Given the description of an element on the screen output the (x, y) to click on. 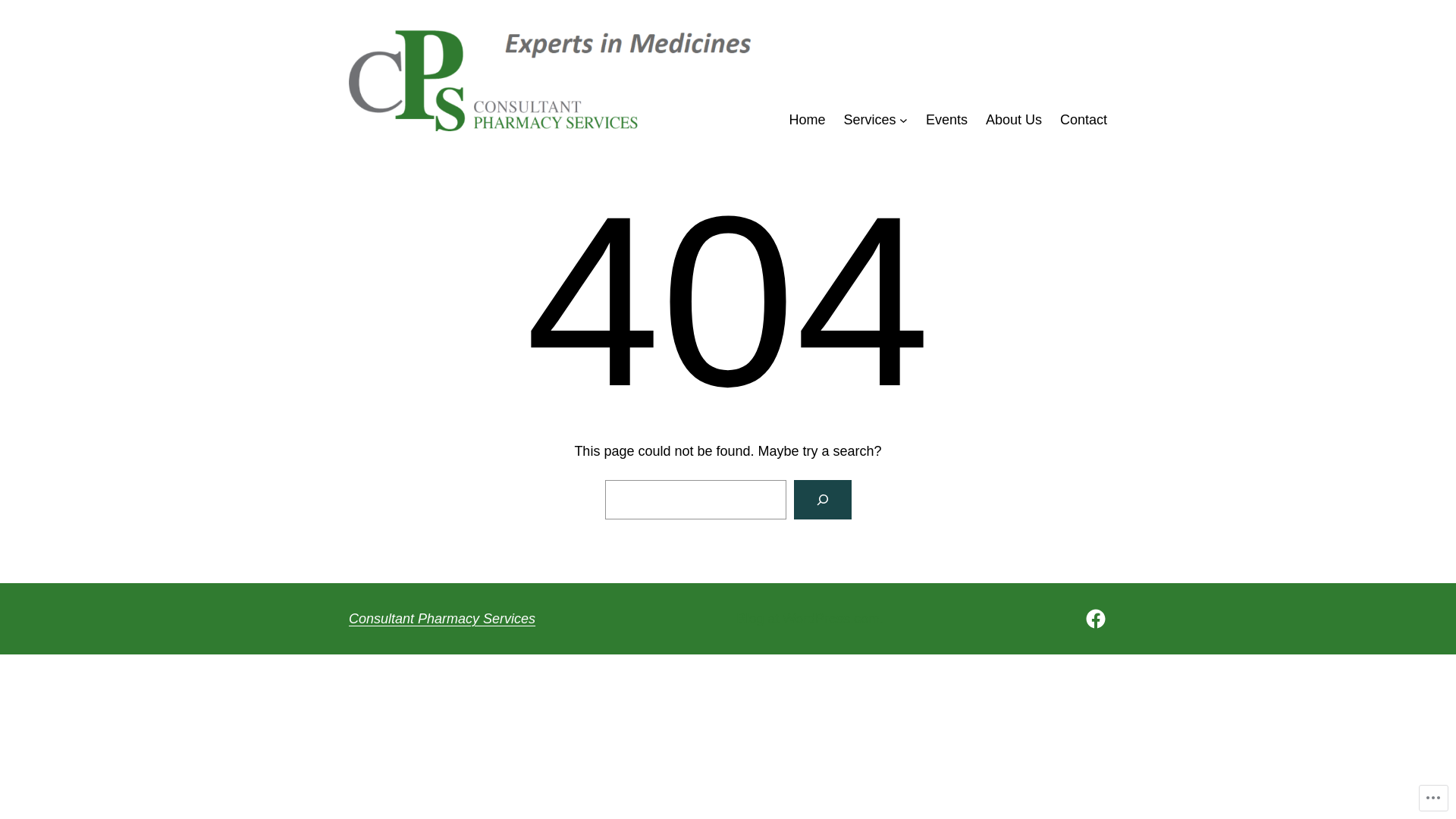
Home Element type: text (807, 120)
Contact Element type: text (1083, 120)
Consultant Pharmacy Services Element type: text (441, 618)
Events Element type: text (946, 120)
Blog at WordPress.com. Element type: text (809, 618)
About Us Element type: text (1013, 120)
Services Element type: text (870, 120)
